Given the description of an element on the screen output the (x, y) to click on. 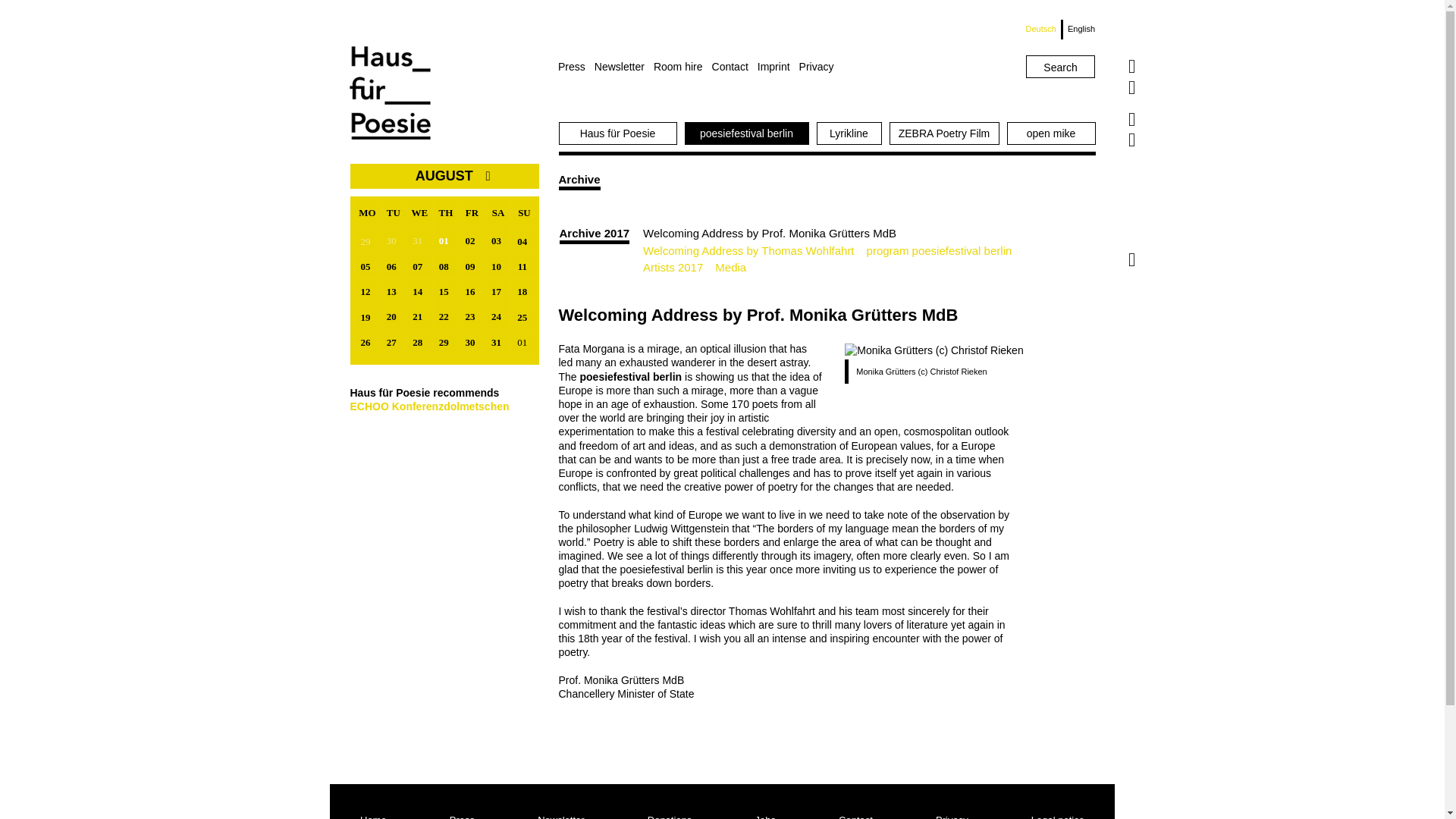
English (1078, 29)
30 (393, 240)
Search (1060, 66)
Press (575, 66)
Das Poesiefestival-Berlin bei Facebook (1130, 119)
Deutsch (1044, 29)
Contact (734, 66)
Newsletter (623, 66)
Imprint (778, 66)
Room hire (682, 66)
29 (366, 241)
Privacy (821, 66)
